Given the description of an element on the screen output the (x, y) to click on. 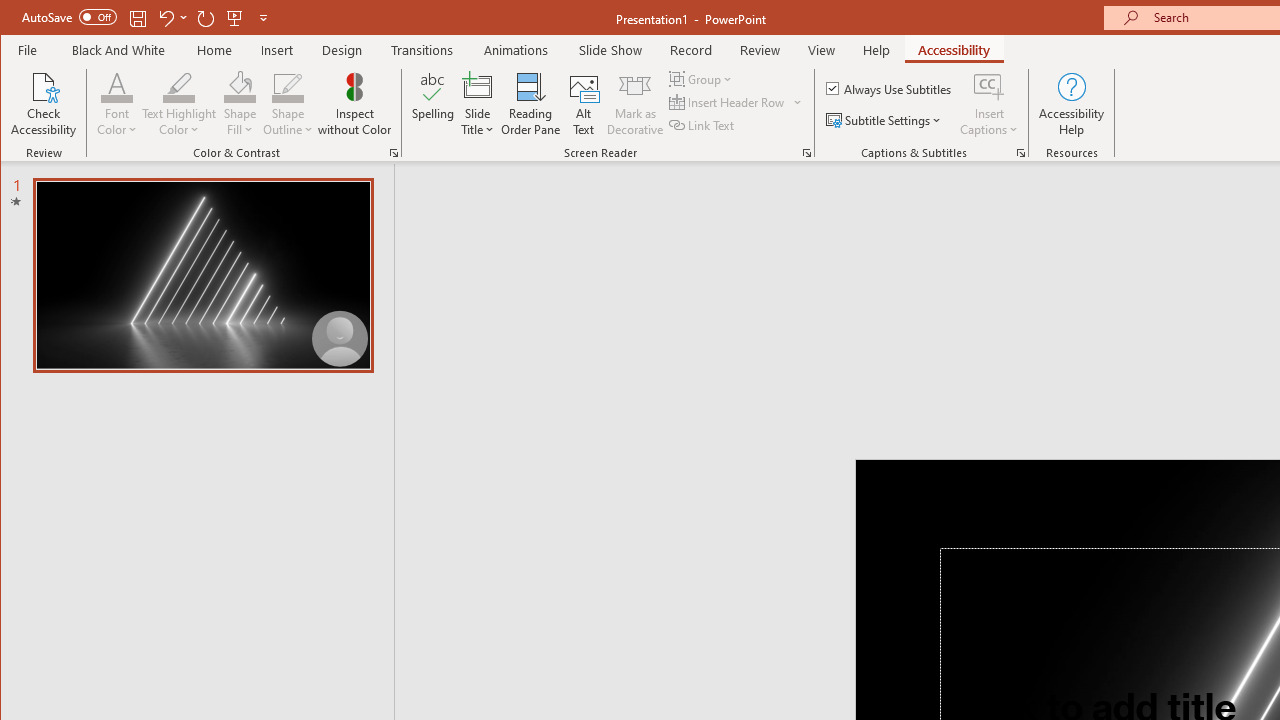
Mark as Decorative (635, 104)
